Given the description of an element on the screen output the (x, y) to click on. 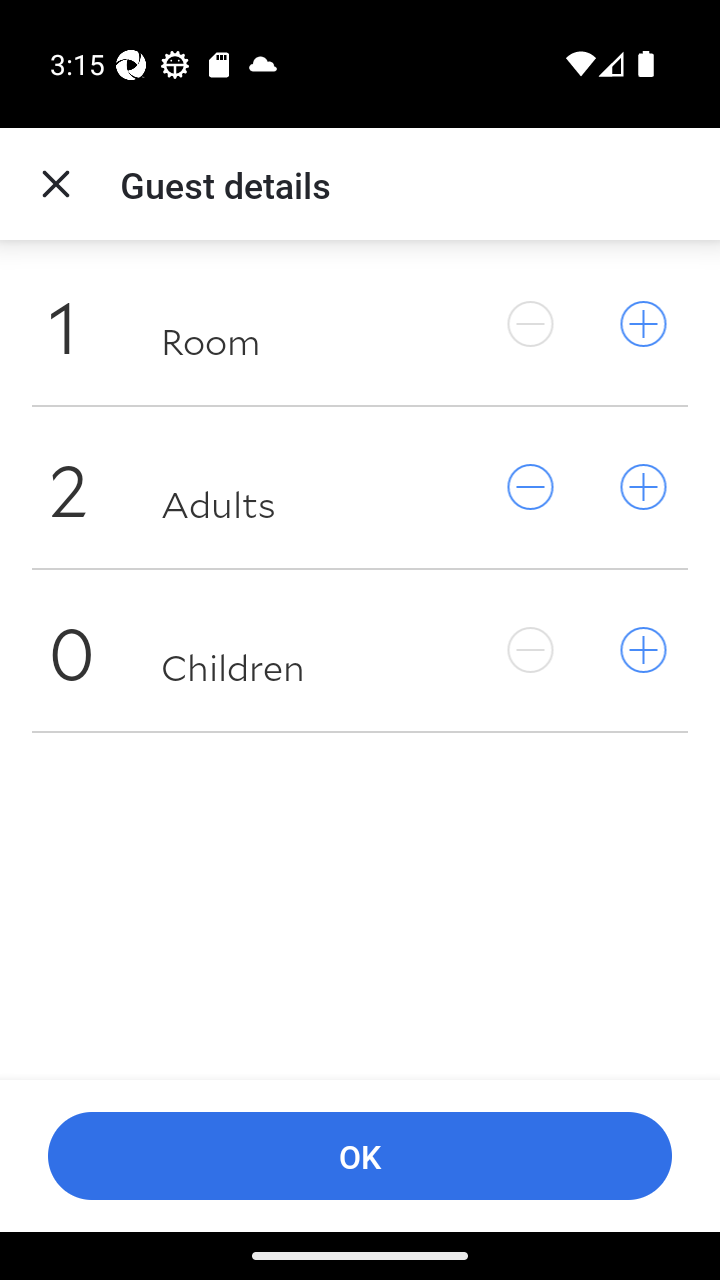
OK (359, 1156)
